Given the description of an element on the screen output the (x, y) to click on. 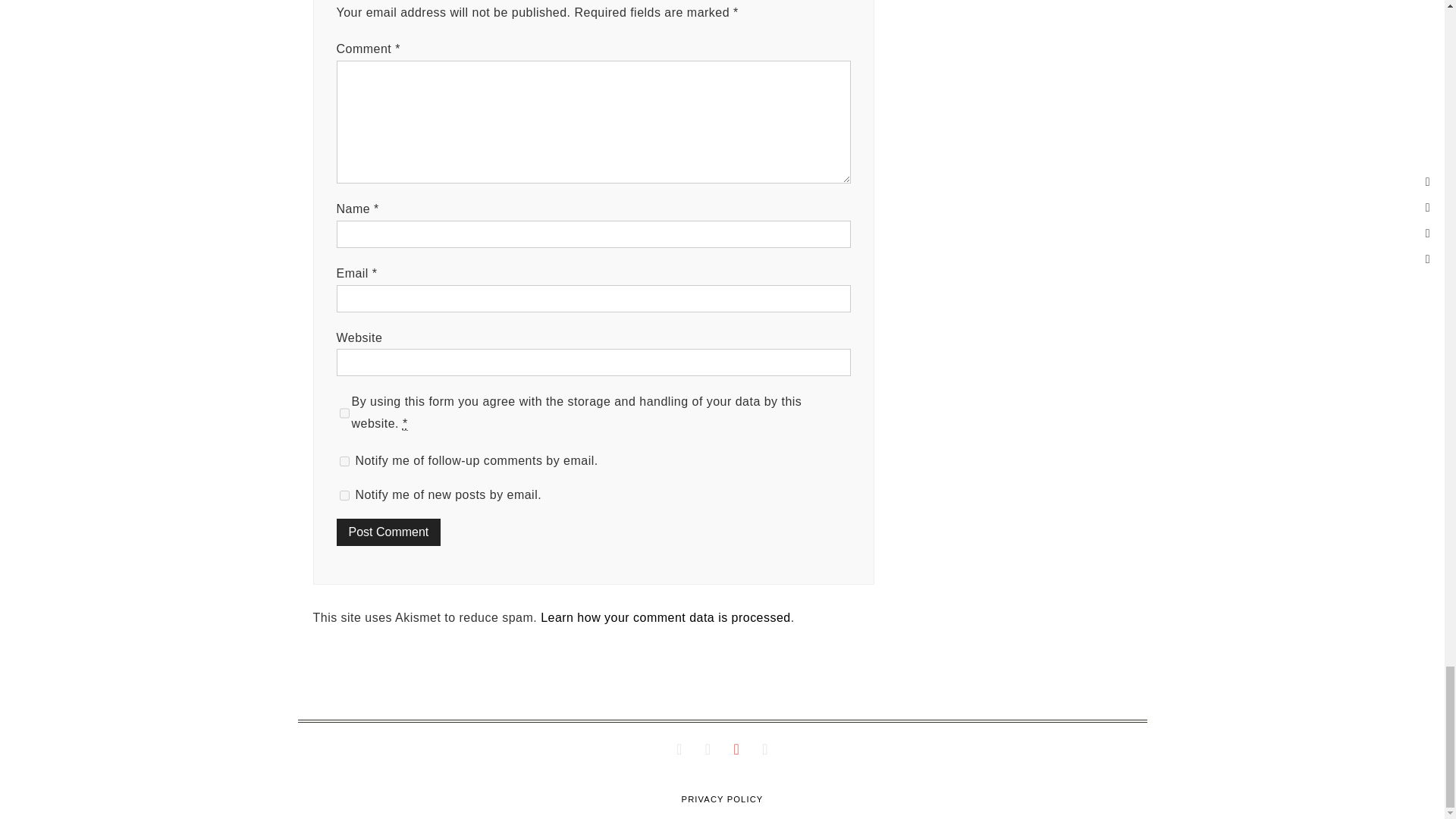
subscribe (344, 461)
Post Comment (388, 532)
subscribe (344, 495)
